Given the description of an element on the screen output the (x, y) to click on. 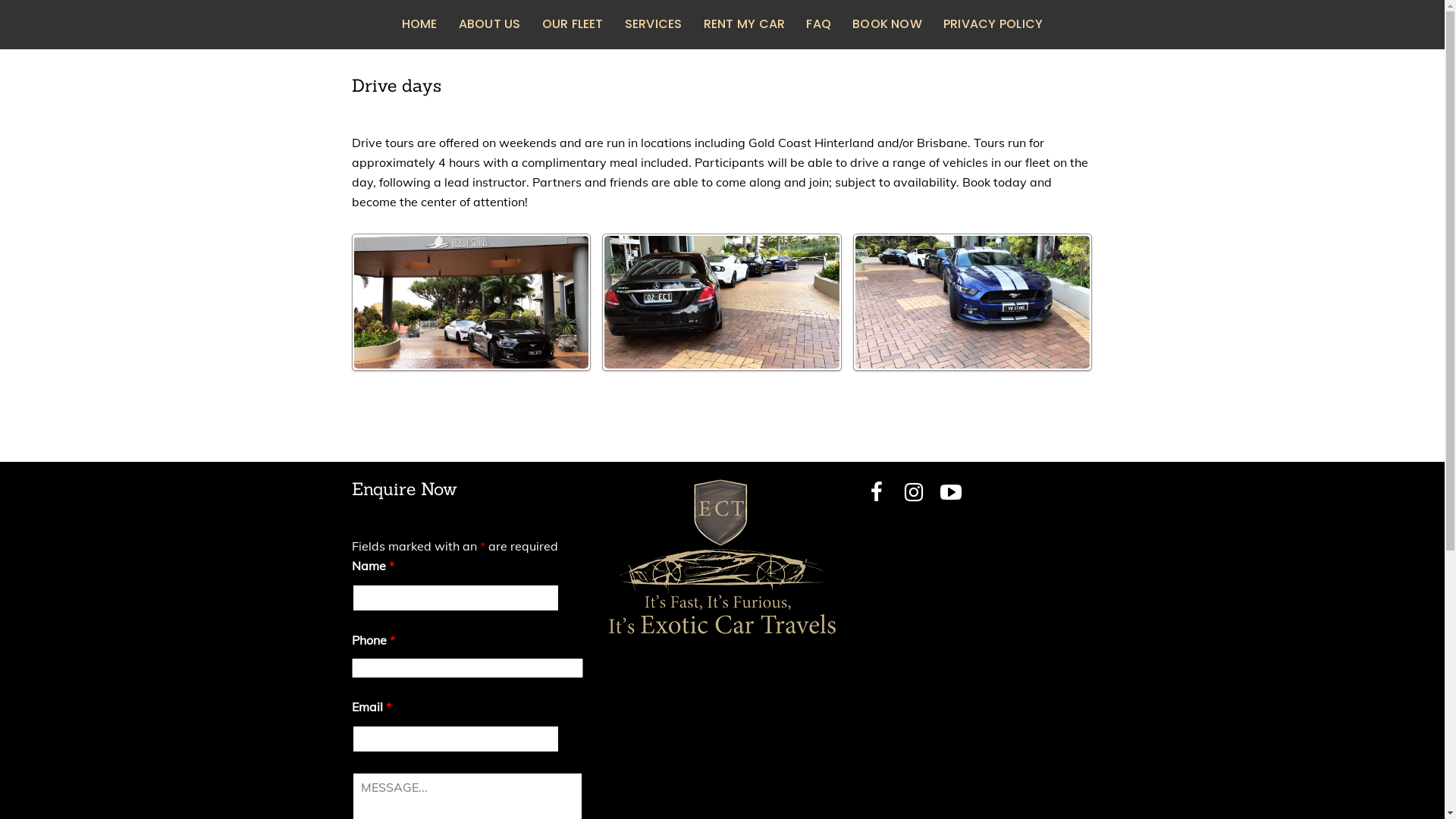
BOOK NOW Element type: text (887, 24)
IMG_5494 Element type: hover (721, 301)
FAQ Element type: text (818, 24)
PRIVACY POLICY Element type: text (992, 24)
YouTube Element type: hover (950, 490)
SERVICES Element type: text (653, 24)
IMG_5478 Element type: hover (470, 301)
IMG_5478 Element type: hover (470, 299)
IMG_5494 Element type: hover (721, 299)
RENT MY CAR Element type: text (744, 24)
Instagram Element type: hover (913, 490)
IMG_5495 Element type: hover (972, 301)
OUR FLEET Element type: text (572, 24)
IMG_5495 Element type: hover (972, 299)
HOME Element type: text (419, 24)
ABOUT US Element type: text (489, 24)
Facebook Element type: hover (876, 490)
